Given the description of an element on the screen output the (x, y) to click on. 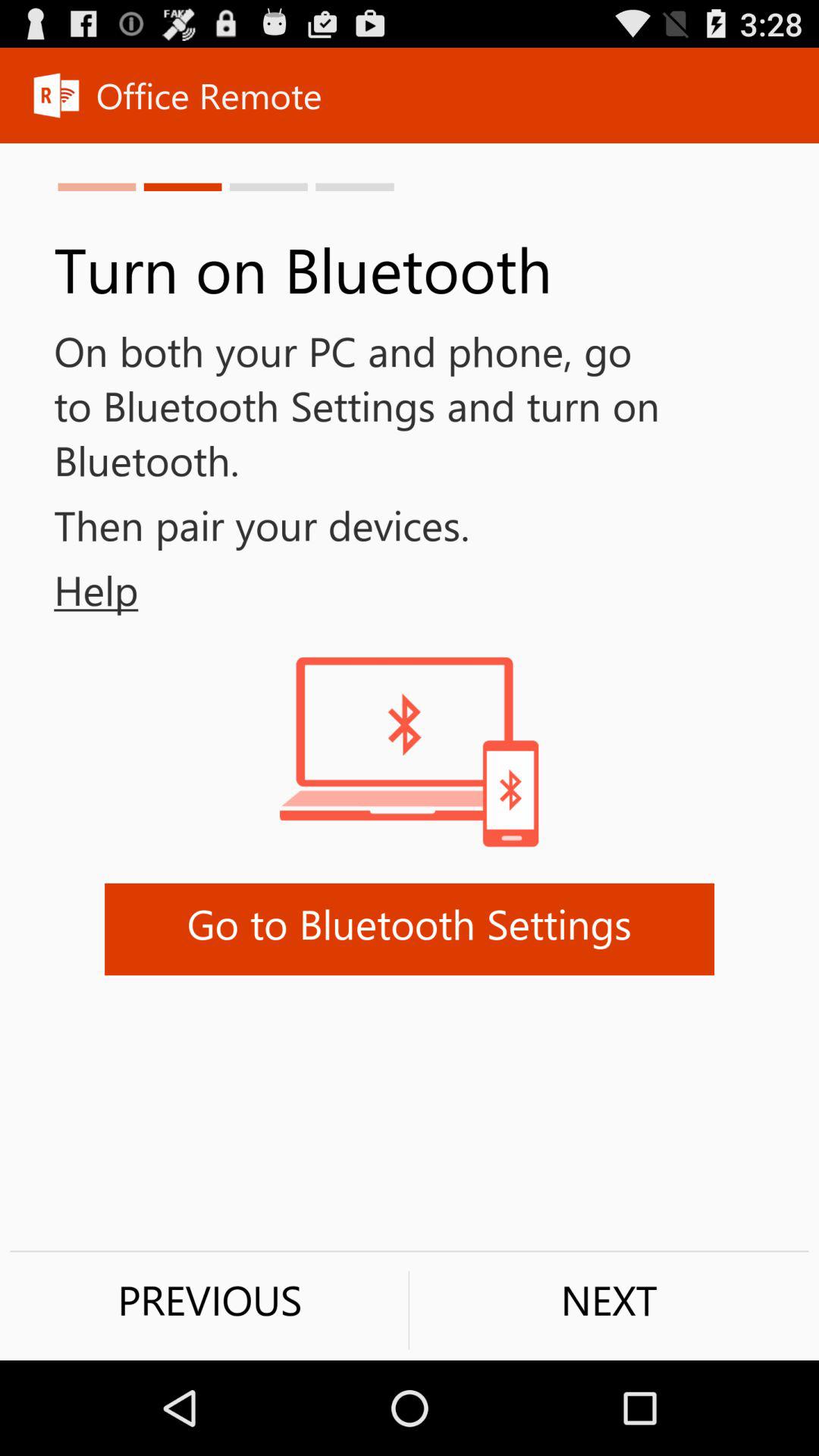
scroll until the next (608, 1300)
